Given the description of an element on the screen output the (x, y) to click on. 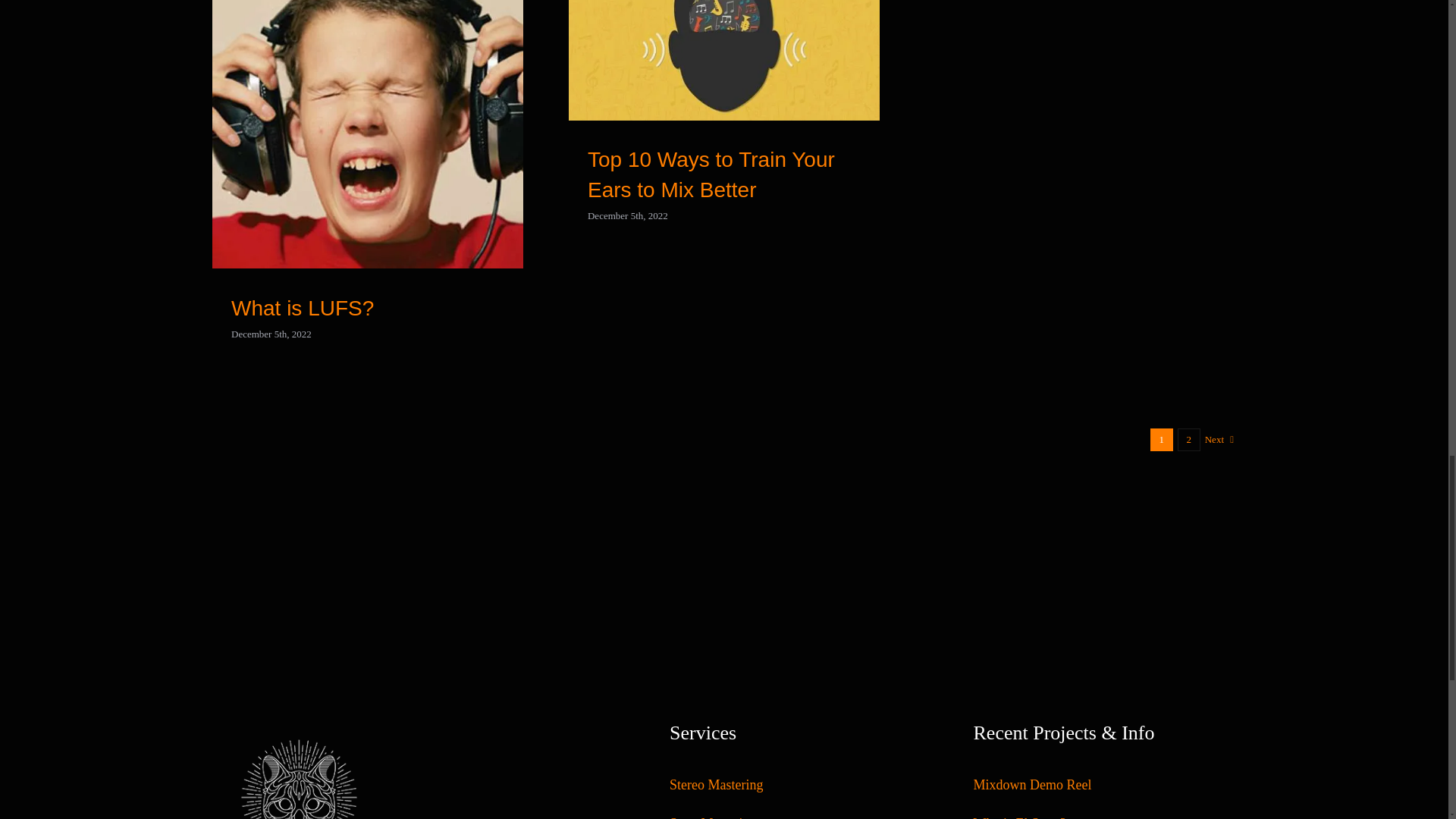
LSIcon Site1 (297, 765)
